Given the description of an element on the screen output the (x, y) to click on. 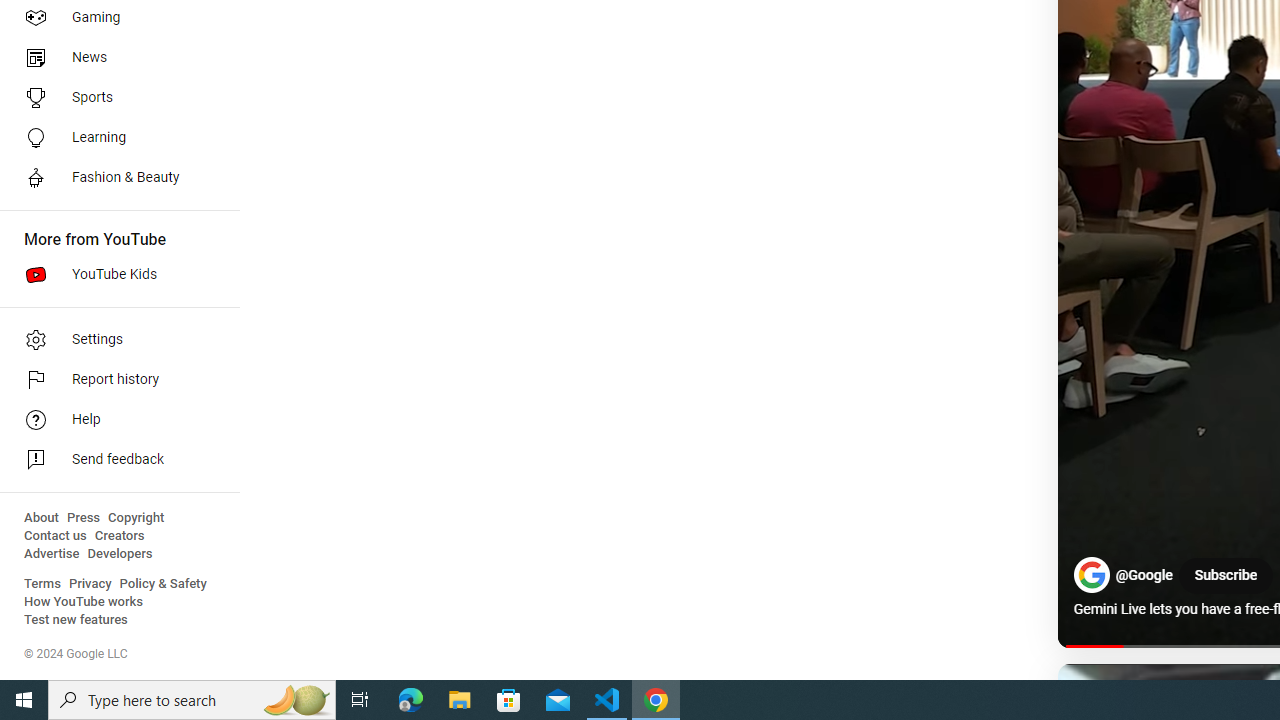
Subscribe (1225, 576)
Advertise (51, 554)
News (113, 57)
How YouTube works (83, 602)
Sports (113, 97)
Press (83, 518)
